Given the description of an element on the screen output the (x, y) to click on. 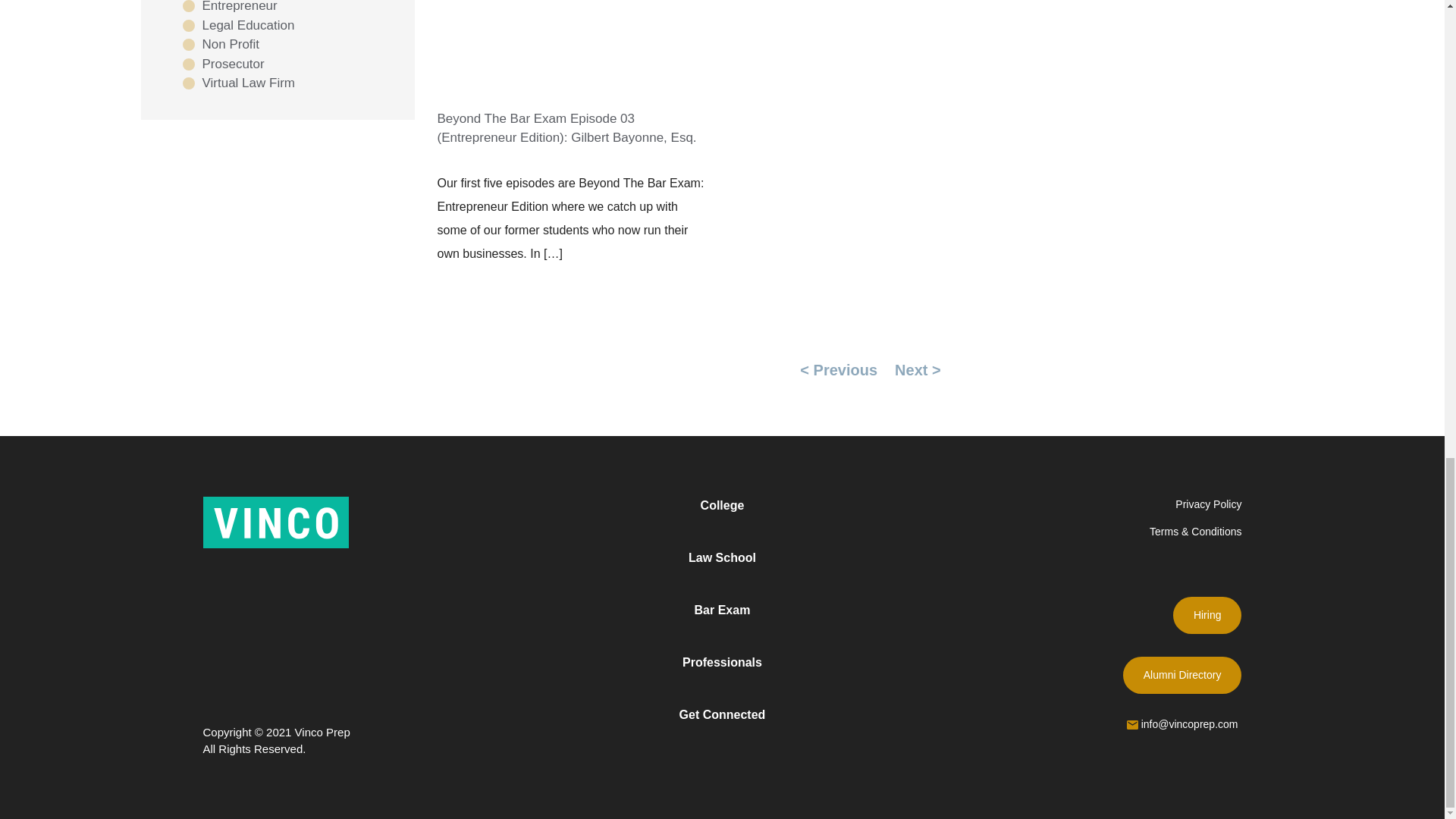
Law School (721, 557)
College (722, 505)
Prosecutor (222, 64)
Virtual Law Firm (238, 83)
Bar Exam (722, 610)
Professionals (721, 662)
Legal Education (238, 25)
Entrepreneur (229, 7)
Non Profit (220, 44)
